Given the description of an element on the screen output the (x, y) to click on. 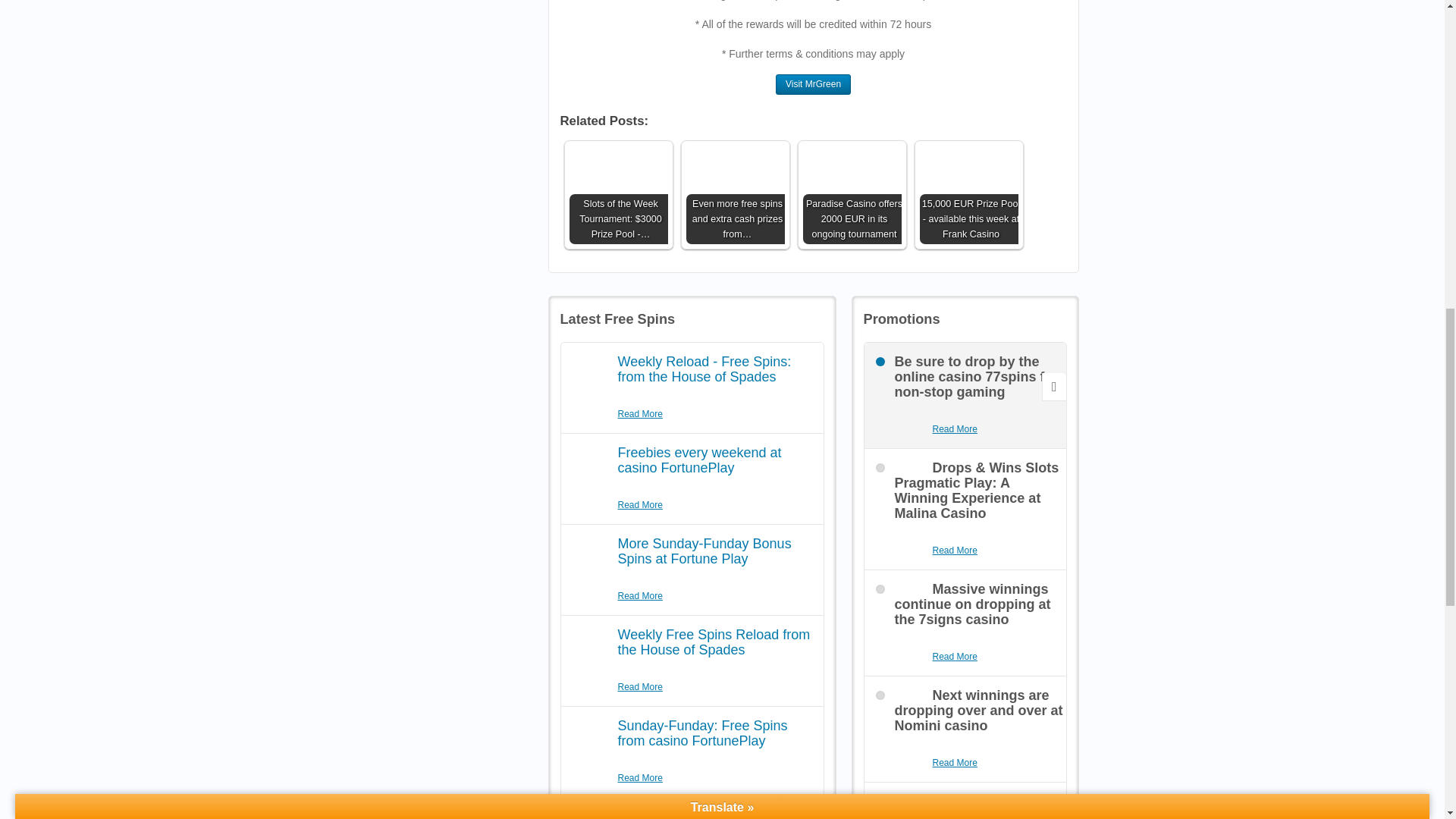
Paradise Casino offers 2000 EUR in its ongoing tournament (851, 194)
Read More (639, 414)
15,000 EUR Prize Pool - available this week at Frank Casino (967, 194)
Weekly Free Spins Reload from the House of Spades (713, 642)
Read More (639, 595)
Read More (639, 504)
Sunday-Funday: Free Spins from casino FortunePlay (702, 733)
Freebies every weekend at casino FortunePlay (698, 460)
Read More (954, 762)
